Given the description of an element on the screen output the (x, y) to click on. 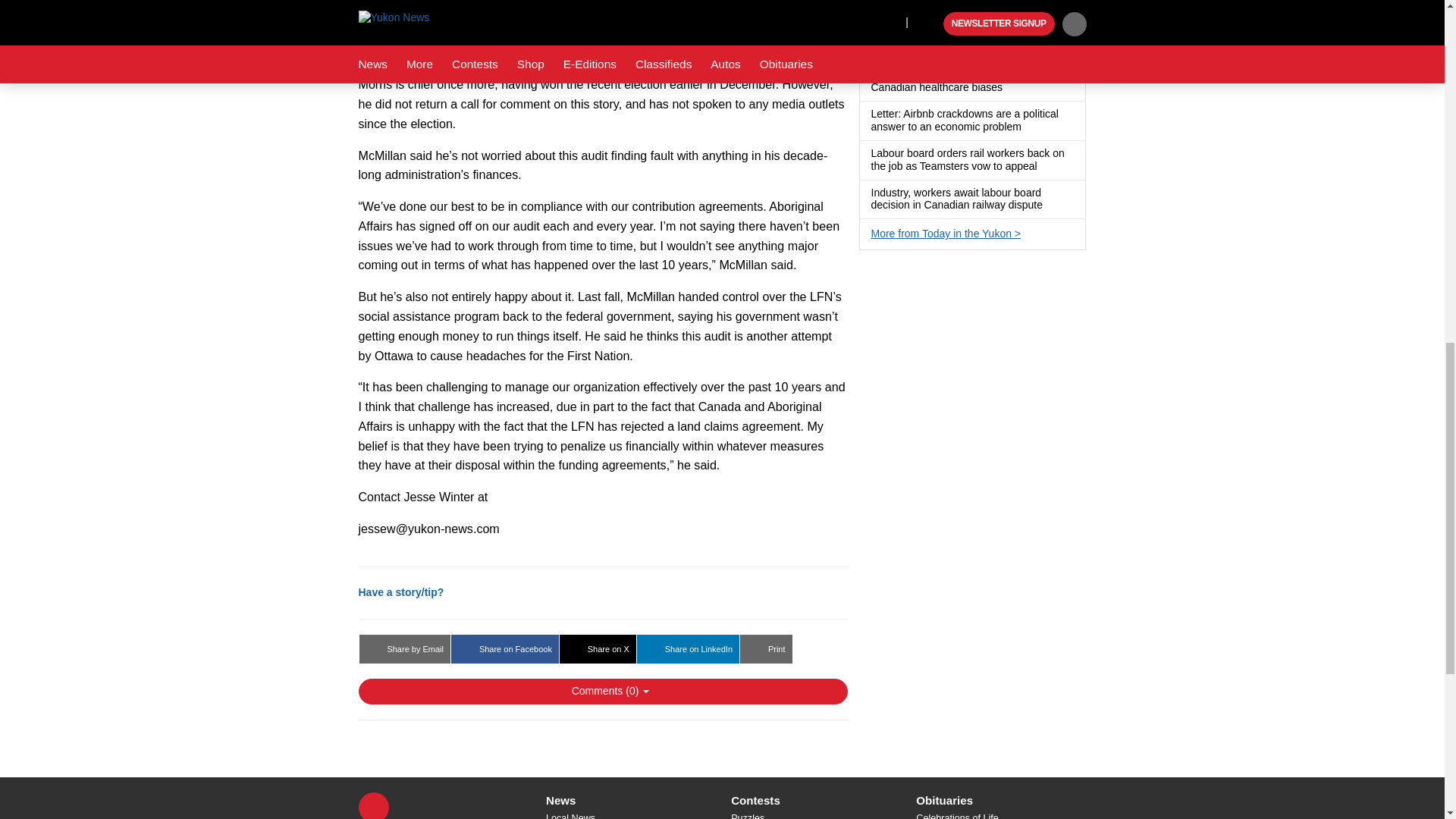
X (373, 805)
Has a gallery (1011, 87)
Show Comments (602, 691)
